Given the description of an element on the screen output the (x, y) to click on. 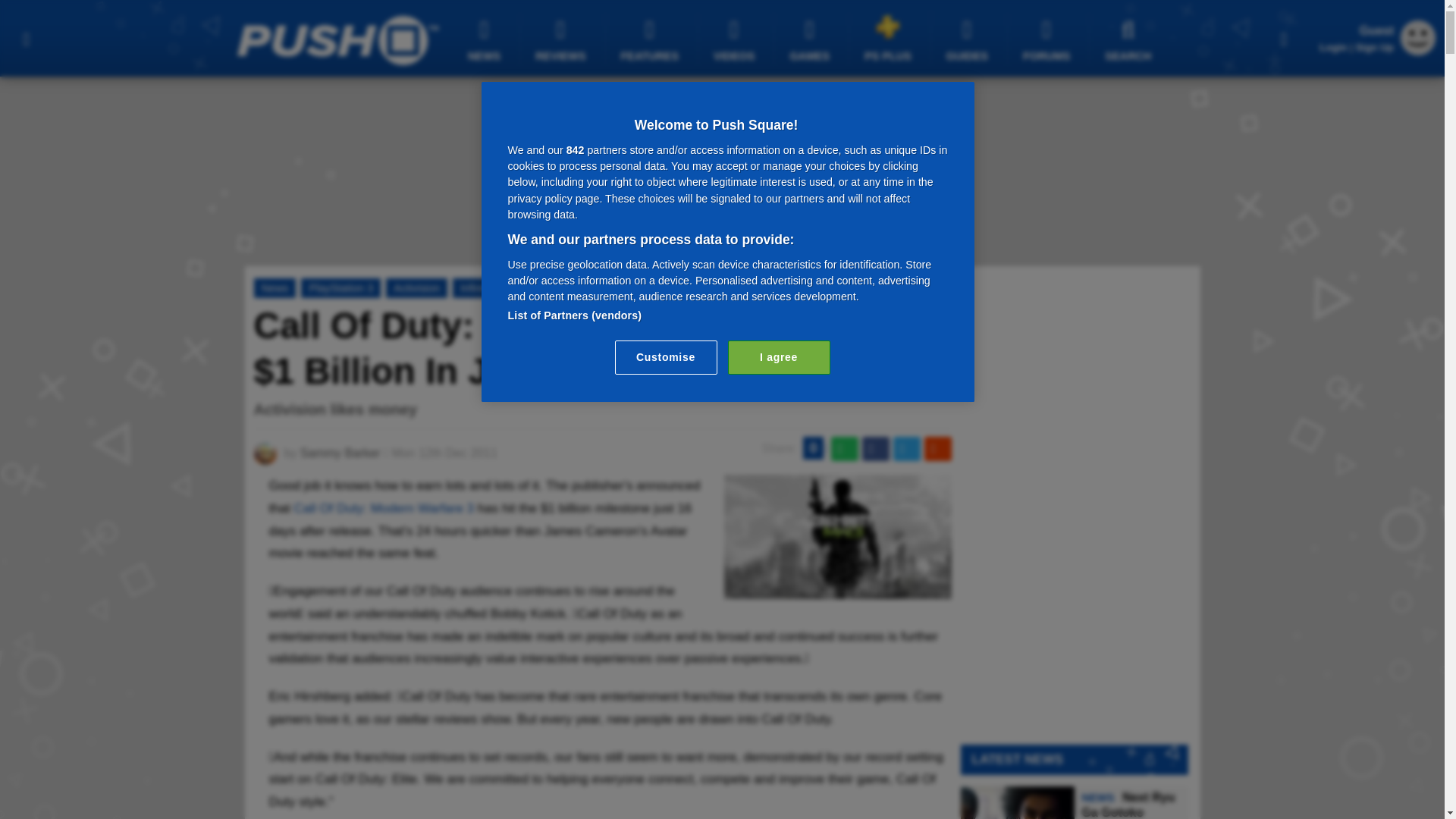
News (274, 288)
Sledgehammer Games (597, 288)
GAMES (811, 39)
Sammy Barker (339, 452)
Share this on Facebook (874, 448)
REVIEWS (562, 39)
Push Square (336, 40)
FORUMS (1048, 39)
SEARCH (1129, 39)
PlayStation 3 (340, 288)
Guest (1417, 51)
Activision (415, 288)
FEATURES (651, 39)
Share This Page (1283, 37)
GUIDES (969, 39)
